Given the description of an element on the screen output the (x, y) to click on. 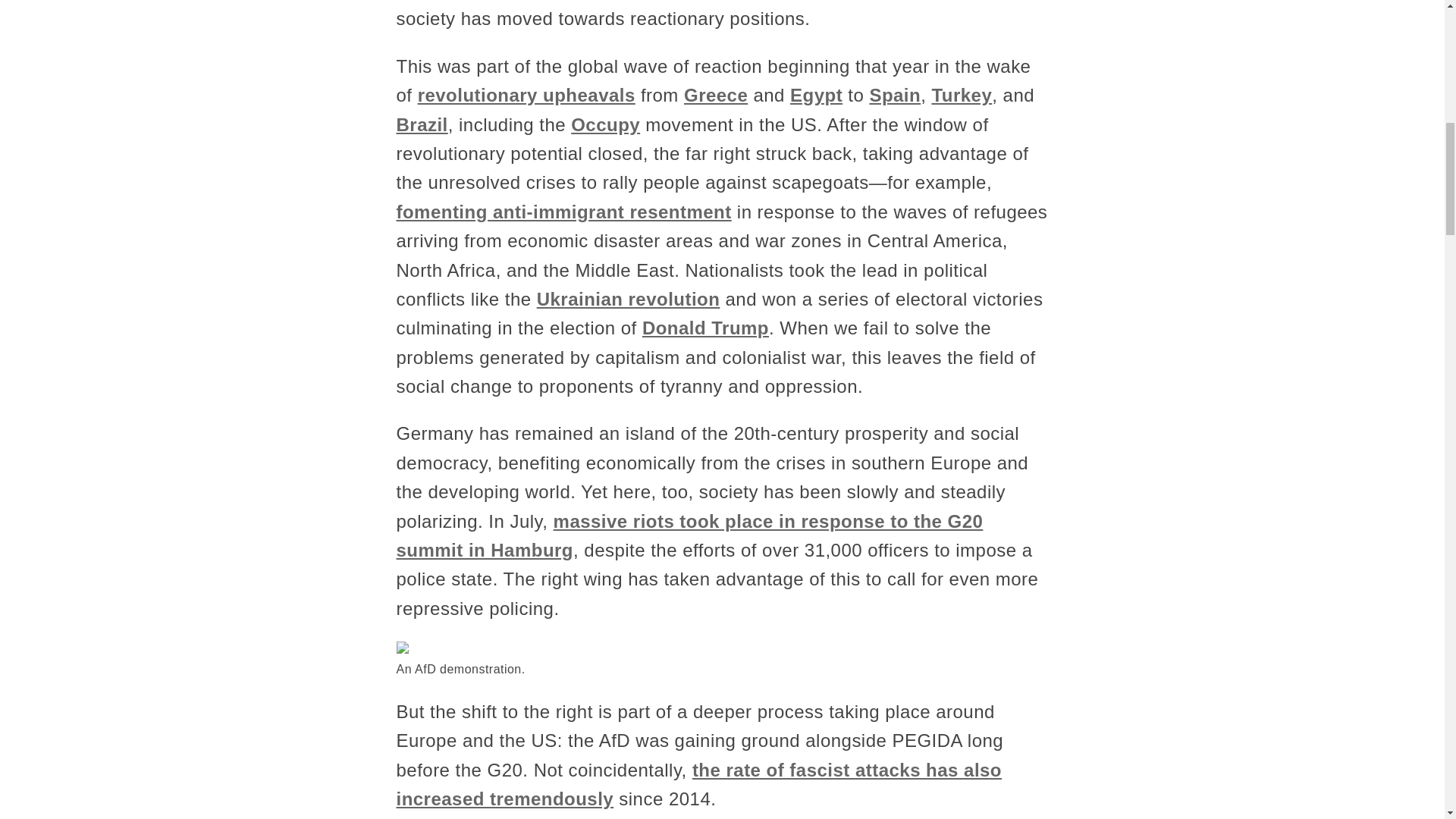
Egypt (816, 95)
Occupy (605, 124)
Spain (894, 95)
fomenting anti-immigrant resentment (563, 211)
Brazil (421, 124)
Donald Trump (705, 327)
revolutionary upheavals (525, 95)
the rate of fascist attacks has also increased tremendously (698, 784)
Ukrainian revolution (628, 299)
Greece (716, 95)
Turkey (961, 95)
